Given the description of an element on the screen output the (x, y) to click on. 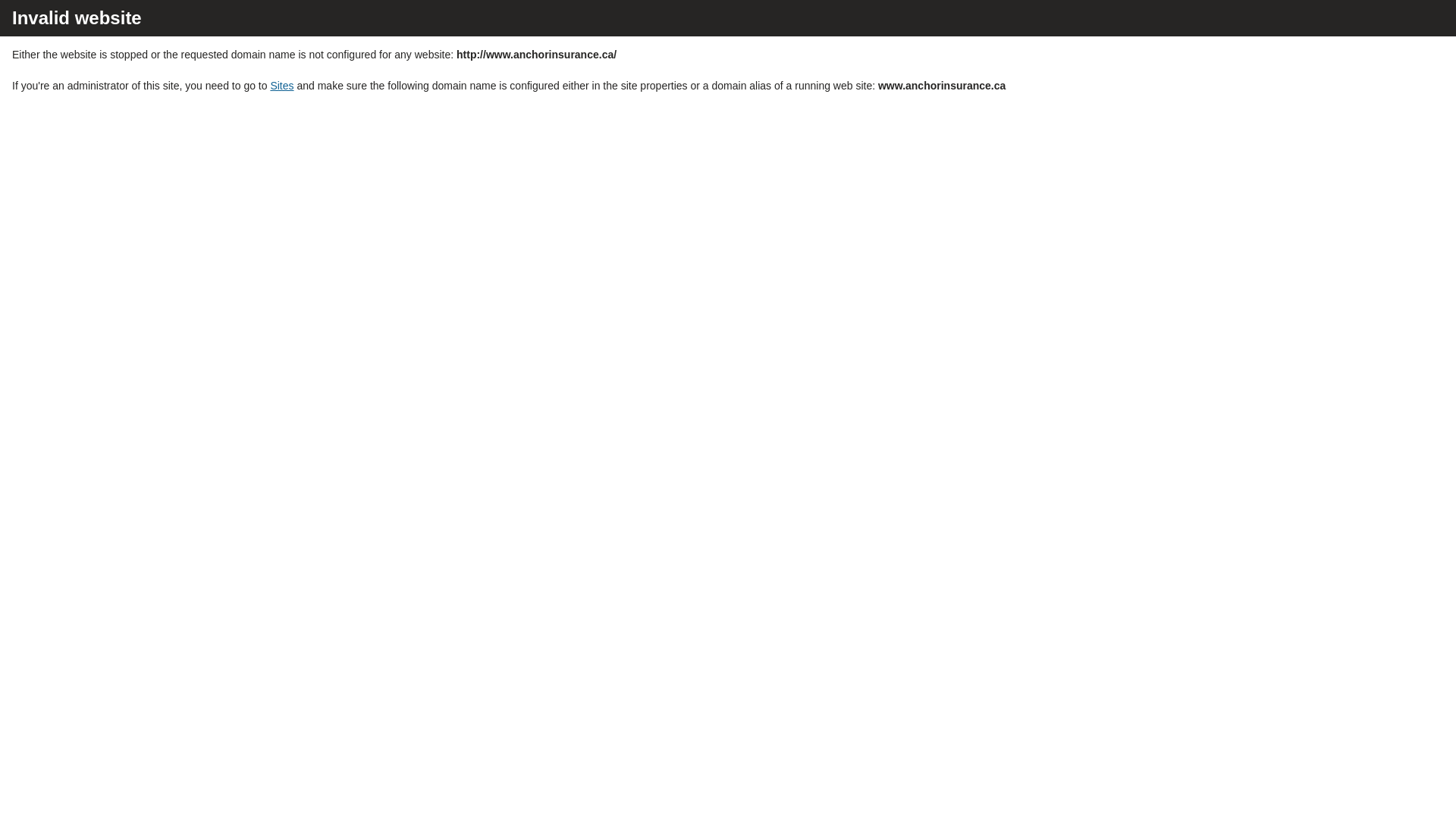
Sites Element type: text (281, 85)
